Given the description of an element on the screen output the (x, y) to click on. 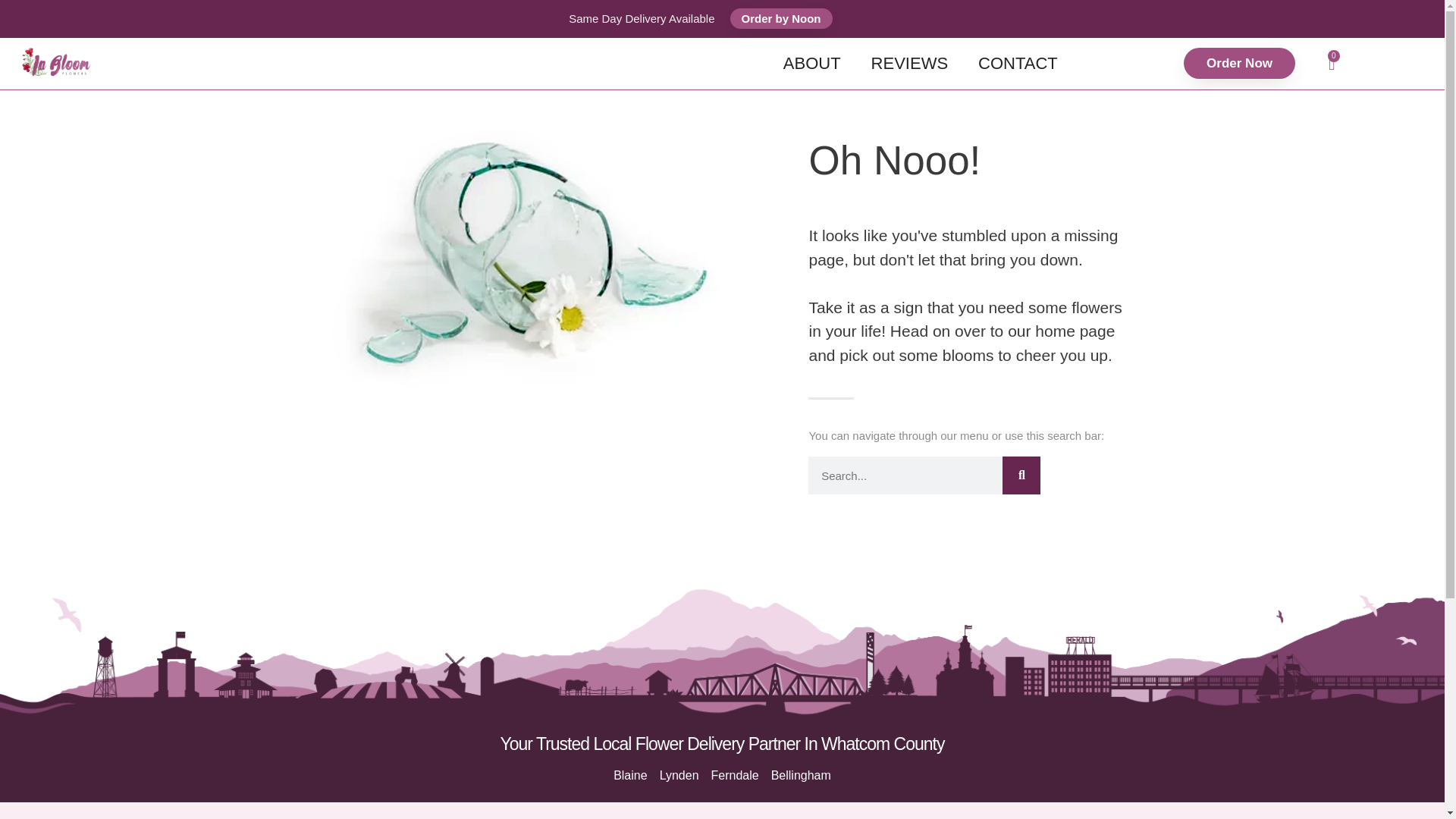
Search (1022, 475)
Bellingham (801, 775)
Lynden (678, 775)
Order Now (1239, 62)
REVIEWS (1332, 63)
CONTACT (909, 63)
Blaine (1017, 63)
ABOUT (629, 775)
Ferndale (812, 63)
Order by Noon (734, 775)
